Given the description of an element on the screen output the (x, y) to click on. 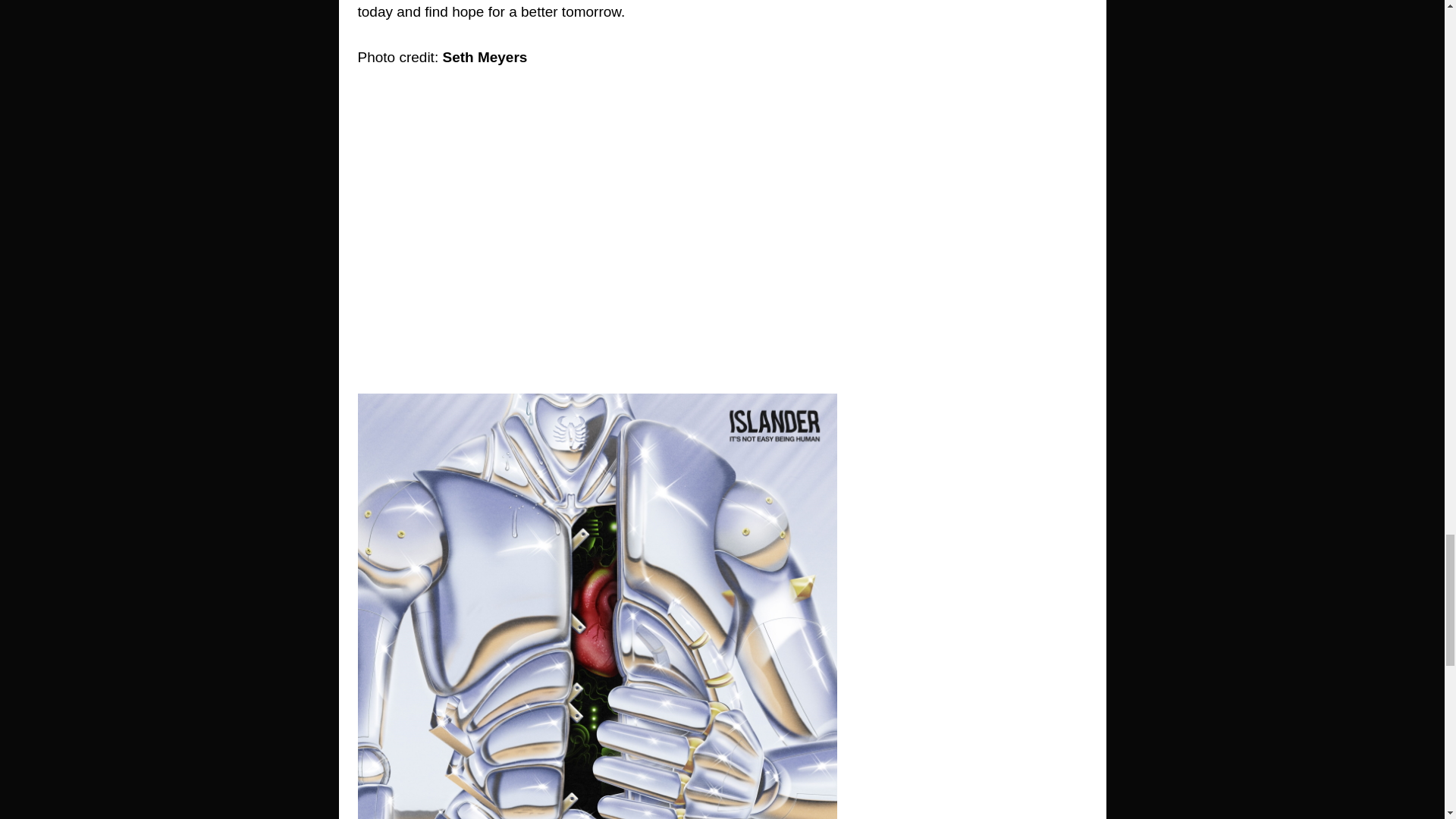
YouTube video player (597, 227)
